Given the description of an element on the screen output the (x, y) to click on. 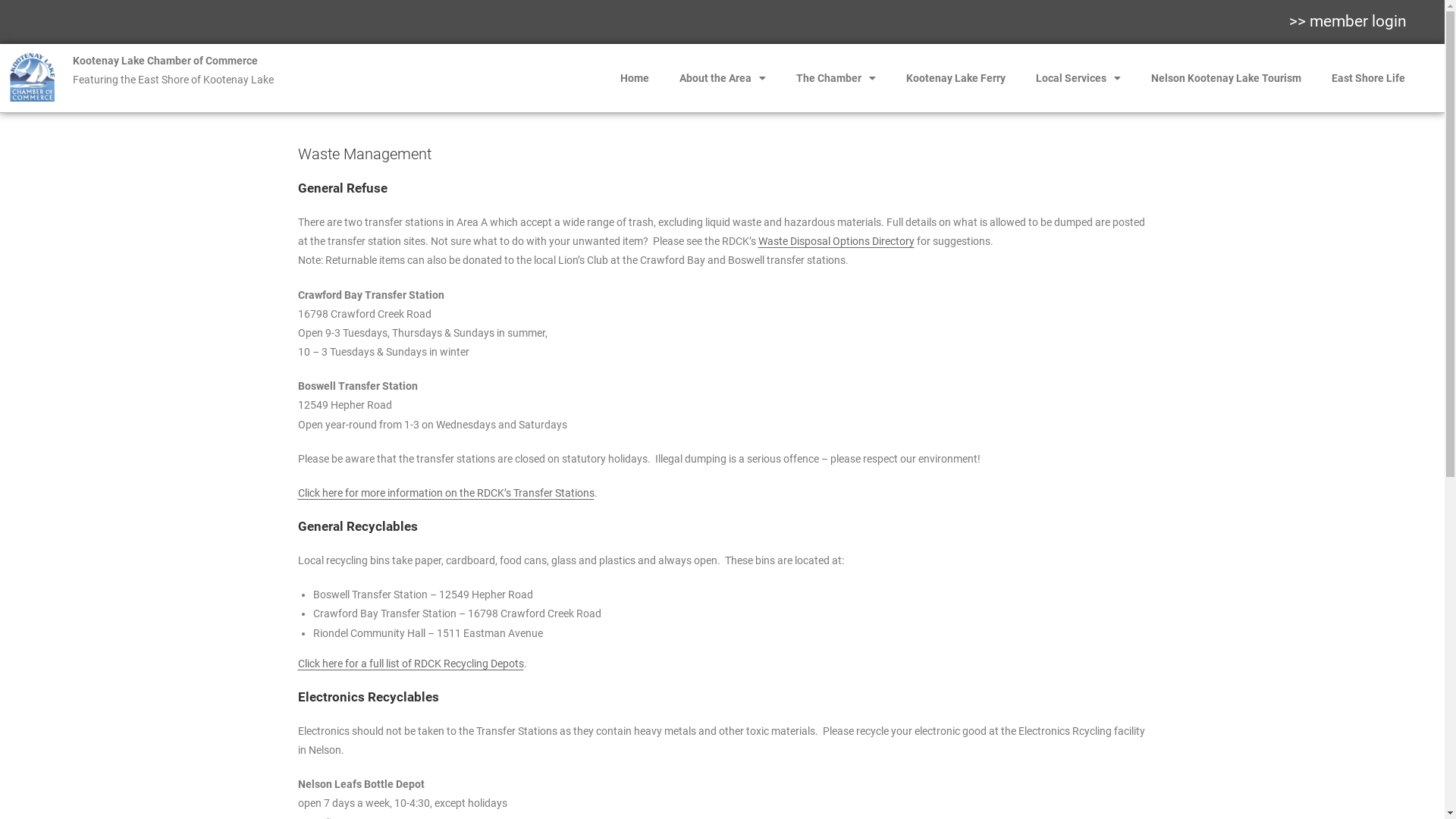
Waste Disposal Options Directory Element type: text (836, 241)
About the Area Element type: text (722, 77)
Nelson Kootenay Lake Tourism Element type: text (1225, 77)
Kootenay Lake Ferry Element type: text (955, 77)
>> member login Element type: text (1347, 21)
Home Element type: text (634, 77)
Local Services Element type: text (1077, 77)
The Chamber Element type: text (836, 77)
East Shore Life Element type: text (1368, 77)
Click here for a full list of RDCK Recycling Depots Element type: text (410, 663)
